Given the description of an element on the screen output the (x, y) to click on. 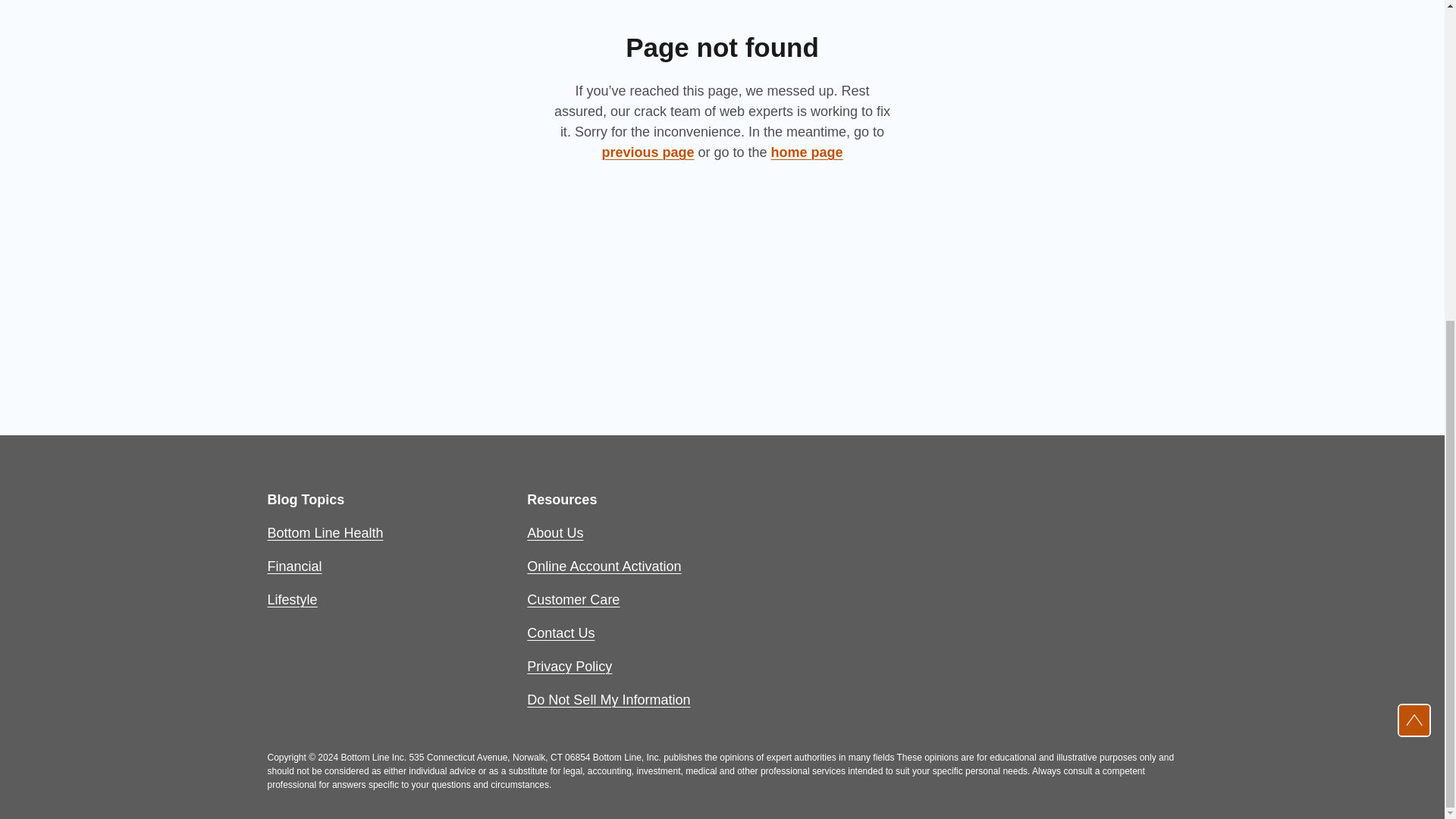
Scroll To Top (1414, 200)
Scroll To Top (1414, 200)
Scroll To Top (1414, 200)
